Given the description of an element on the screen output the (x, y) to click on. 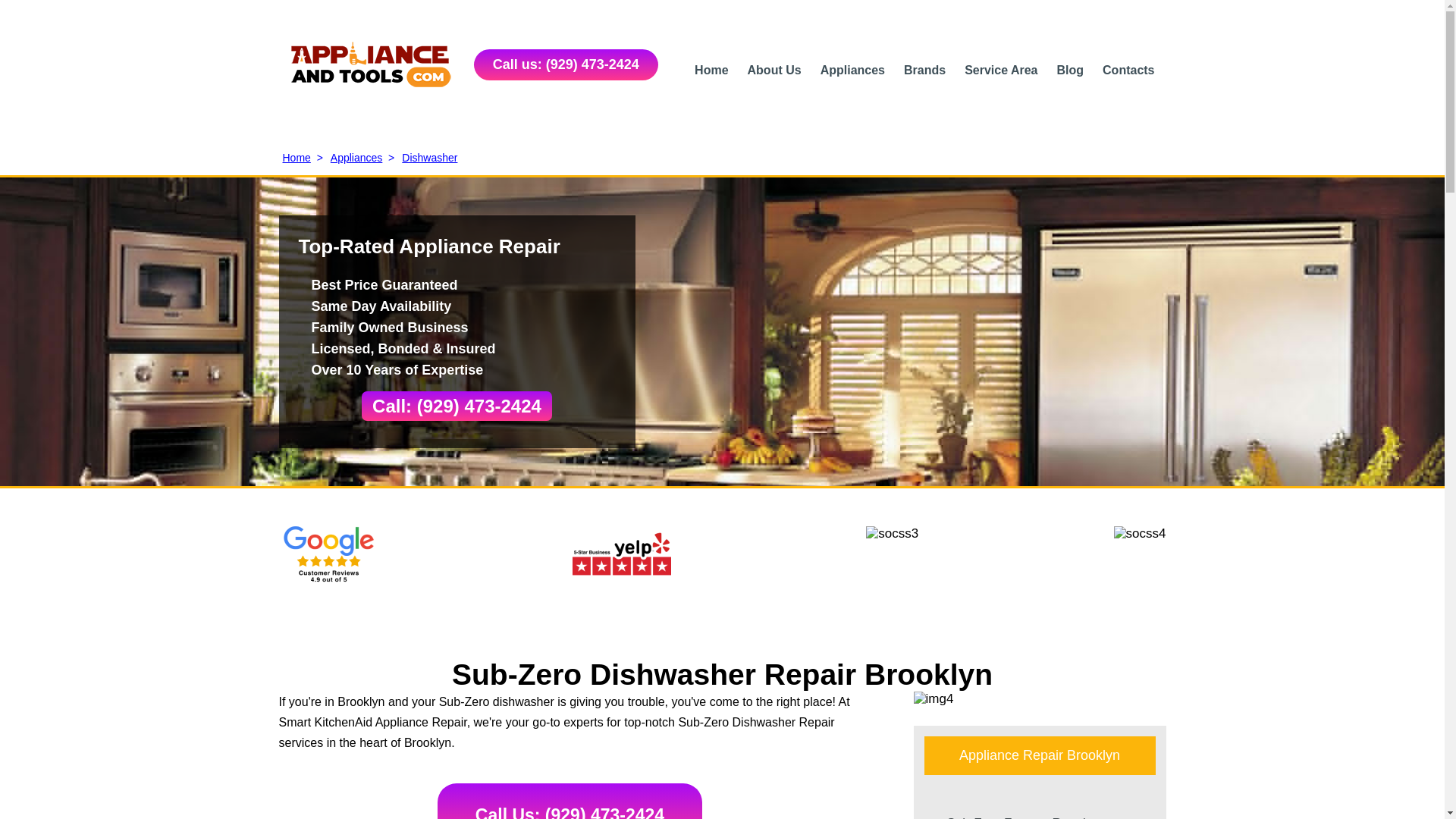
About Us (775, 69)
Appliances (853, 69)
Brands (924, 69)
Home (711, 69)
